Given the description of an element on the screen output the (x, y) to click on. 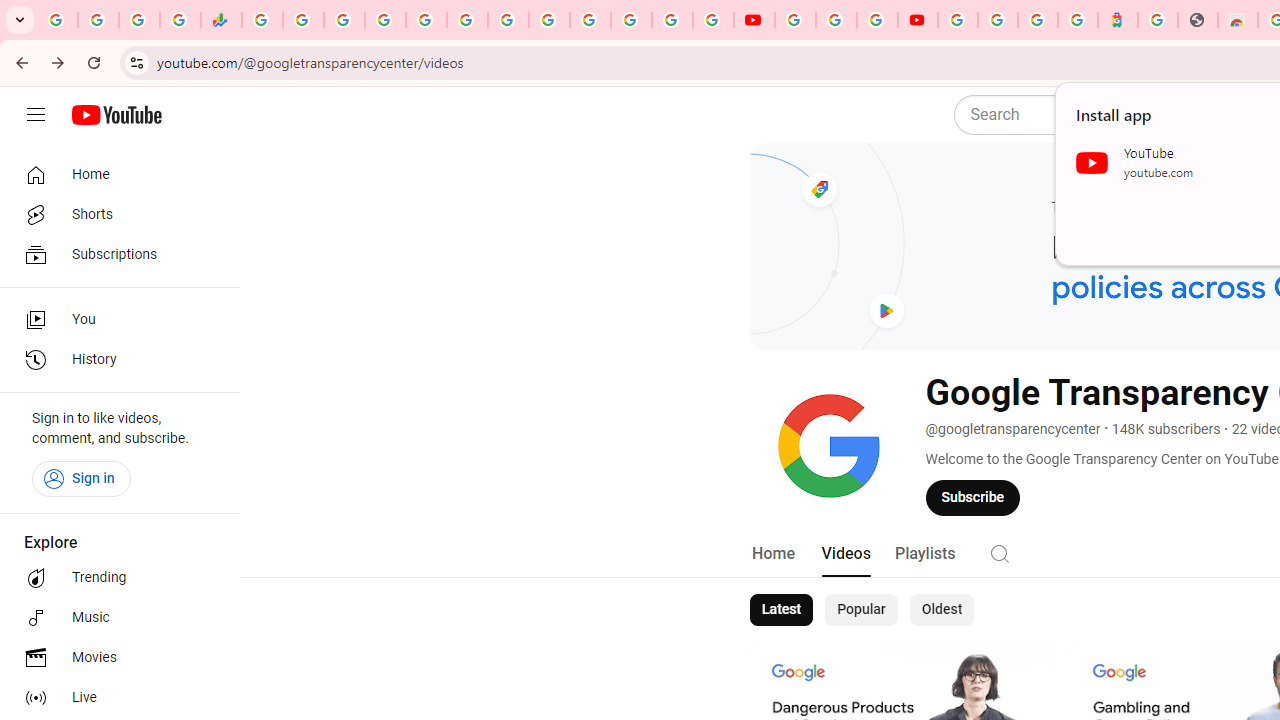
Oldest (941, 609)
YouTube (795, 20)
Sign in - Google Accounts (384, 20)
Shorts (113, 214)
YouTube (548, 20)
Sign in - Google Accounts (671, 20)
Sign in - Google Accounts (589, 20)
Guide (35, 115)
